Given the description of an element on the screen output the (x, y) to click on. 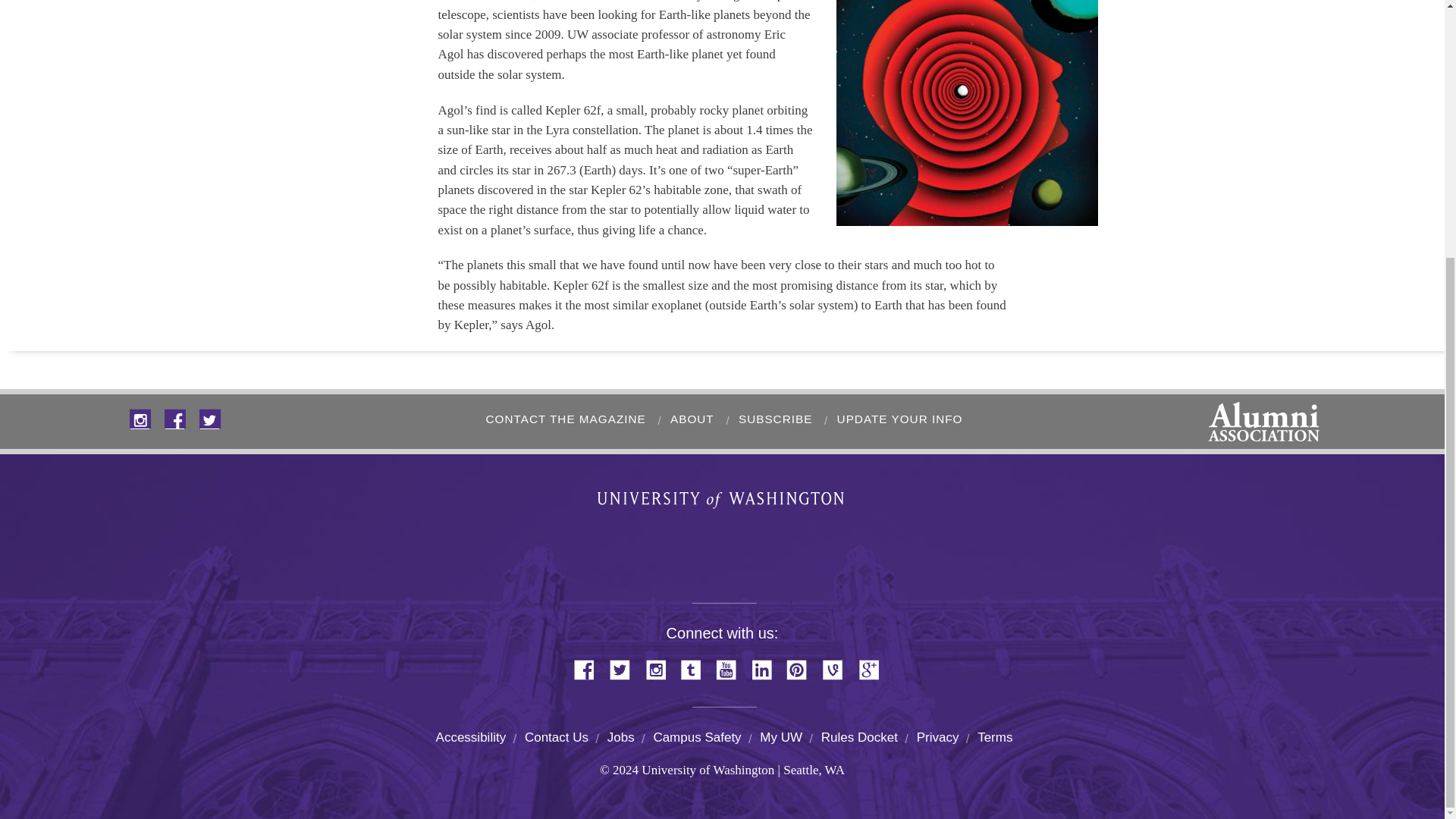
Tumblr (695, 668)
Vine (837, 668)
University of Washington (721, 503)
Facebook (589, 668)
Campus Safety (696, 737)
LinkedIn (767, 668)
ABOUT (689, 418)
Instagram (661, 668)
Jobs (620, 737)
My UW (781, 737)
UPDATE YOUR INFO (896, 418)
Contact Us (556, 737)
YouTube (732, 668)
CONTACT THE MAGAZINE (563, 418)
Accessibility (470, 737)
